Given the description of an element on the screen output the (x, y) to click on. 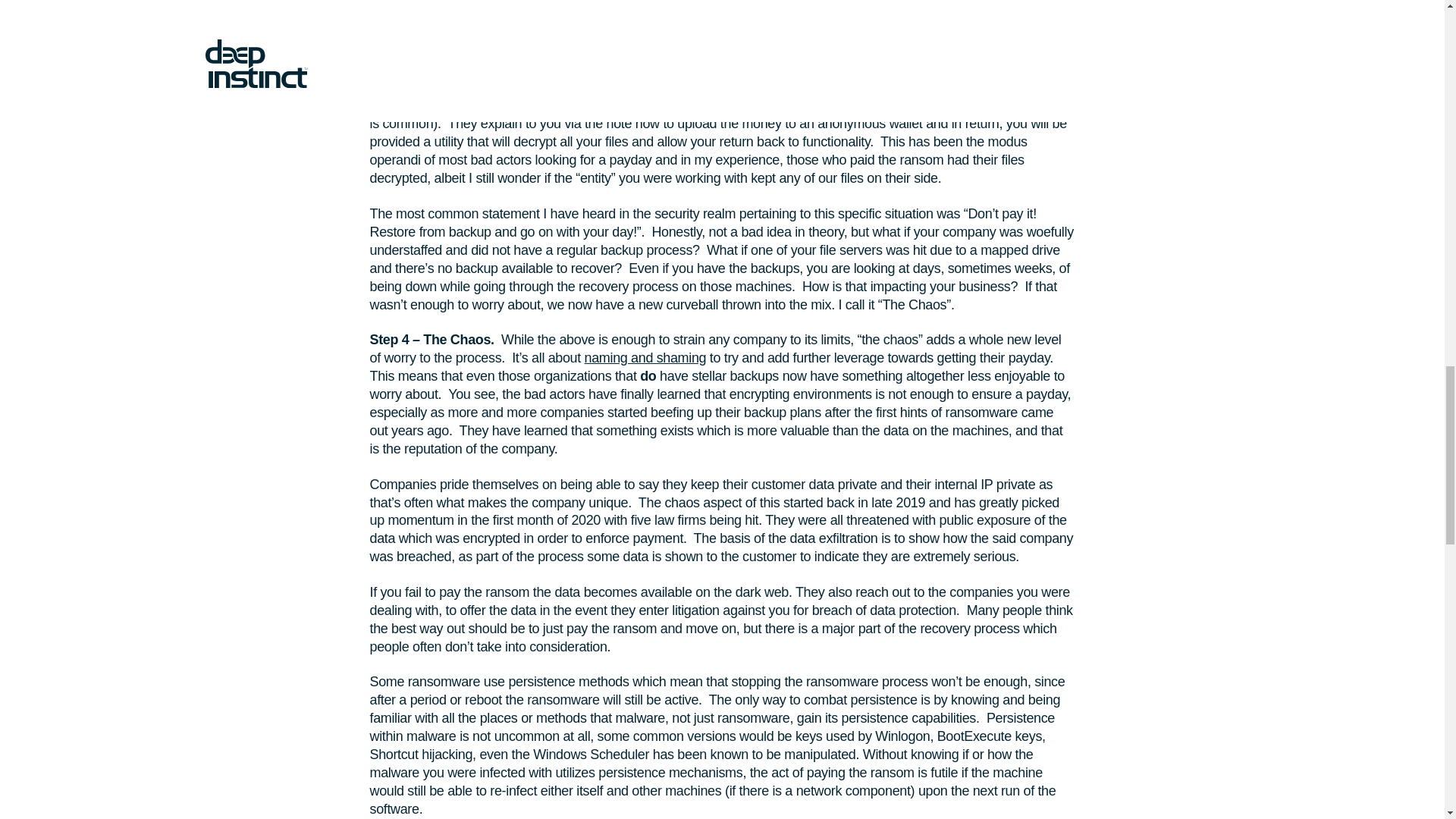
dual-use (620, 2)
AES-256 (425, 52)
naming and shaming (645, 357)
